Given the description of an element on the screen output the (x, y) to click on. 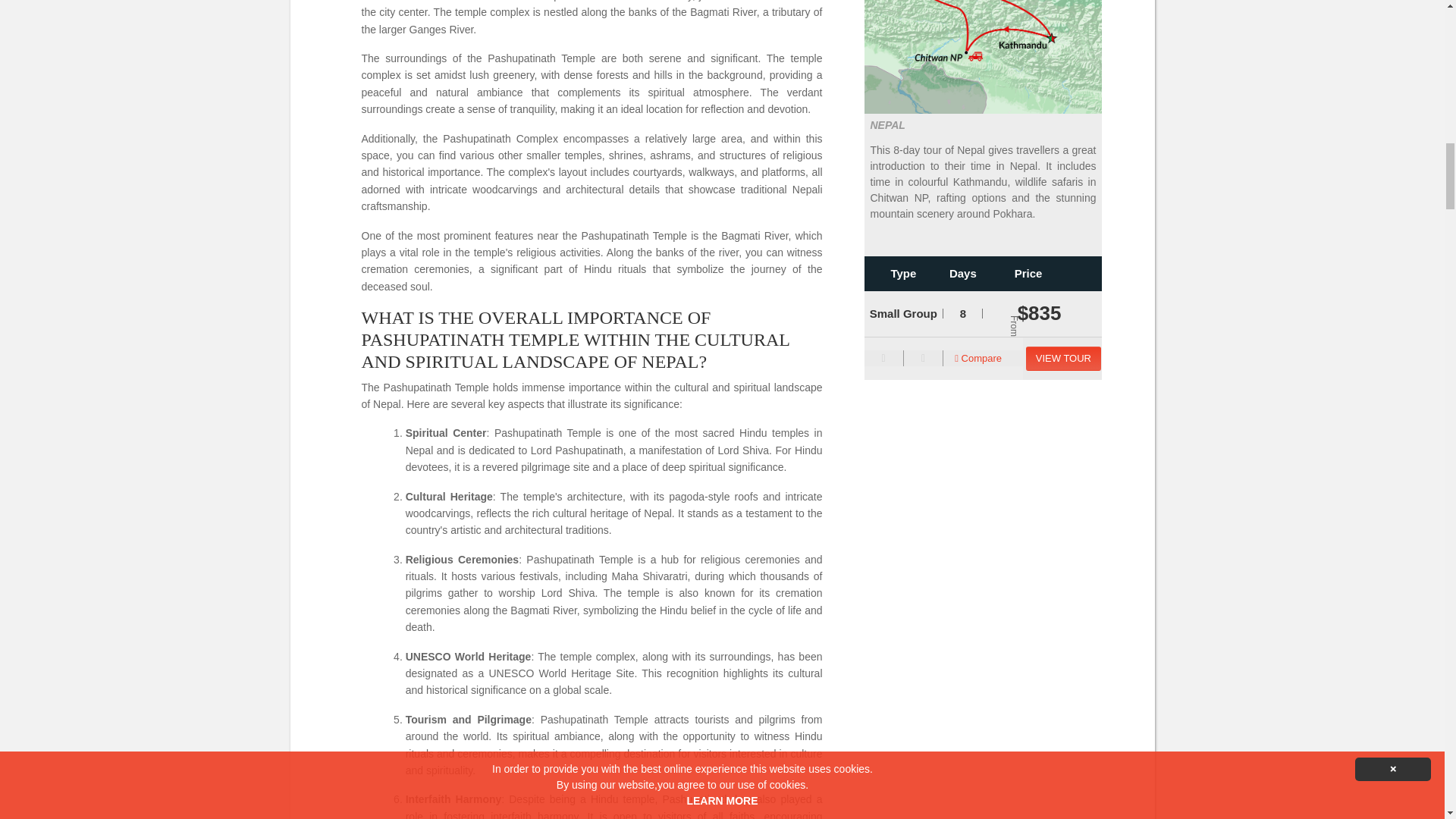
Book Now (1063, 358)
